Given the description of an element on the screen output the (x, y) to click on. 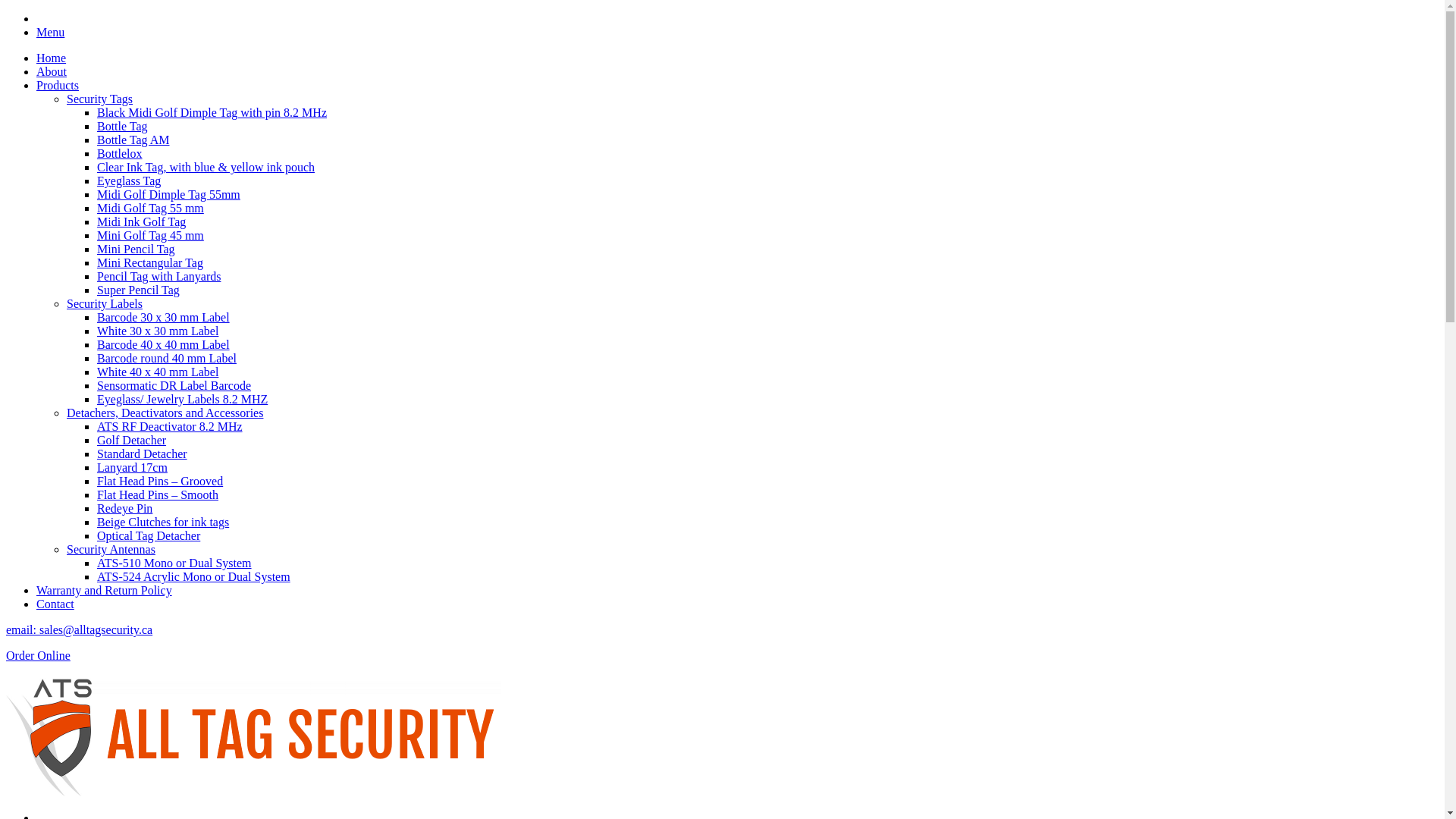
Menu Element type: text (50, 31)
ATS-510 Mono or Dual System Element type: text (174, 562)
Home Element type: text (50, 57)
ATS RF Deactivator 8.2 MHz Element type: text (169, 426)
Optical Tag Detacher Element type: text (148, 535)
Barcode 30 x 30 mm Label Element type: text (163, 316)
Order Online Element type: text (722, 655)
ATS-524 Acrylic Mono or Dual System Element type: text (193, 576)
Security Antennas Element type: text (110, 548)
Barcode round 40 mm Label Element type: text (166, 357)
Bottle Tag AM Element type: text (133, 139)
Security Tags Element type: text (99, 98)
Contact Element type: text (55, 603)
Pencil Tag with Lanyards Element type: text (158, 275)
Barcode 40 x 40 mm Label Element type: text (163, 344)
Products Element type: text (57, 84)
email: sales@alltagsecurity.ca Element type: text (79, 629)
Black Midi Golf Dimple Tag with pin 8.2 MHz Element type: text (211, 112)
Midi Golf Tag 55 mm Element type: text (150, 207)
Detachers, Deactivators and Accessories Element type: text (164, 412)
Bottlelox Element type: text (119, 153)
Bottle Tag Element type: text (122, 125)
Eyeglass/ Jewelry Labels 8.2 MHZ Element type: text (182, 398)
Sensormatic DR Label Barcode Element type: text (174, 385)
Clear Ink Tag, with blue & yellow ink pouch Element type: text (205, 166)
Security Labels Element type: text (104, 303)
Eyeglass Tag Element type: text (128, 180)
About Element type: text (51, 71)
White 40 x 40 mm Label Element type: text (157, 371)
White 30 x 30 mm Label Element type: text (157, 330)
Mini Golf Tag 45 mm Element type: text (150, 235)
Redeye Pin Element type: text (124, 508)
Lanyard 17cm Element type: text (132, 467)
Standard Detacher Element type: text (142, 453)
Midi Golf Dimple Tag 55mm Element type: text (168, 194)
Midi Ink Golf Tag Element type: text (141, 221)
Beige Clutches for ink tags Element type: text (163, 521)
Mini Pencil Tag Element type: text (136, 248)
Warranty and Return Policy Element type: text (104, 589)
Golf Detacher Element type: text (131, 439)
Mini Rectangular Tag Element type: text (150, 262)
Super Pencil Tag Element type: text (138, 289)
